Given the description of an element on the screen output the (x, y) to click on. 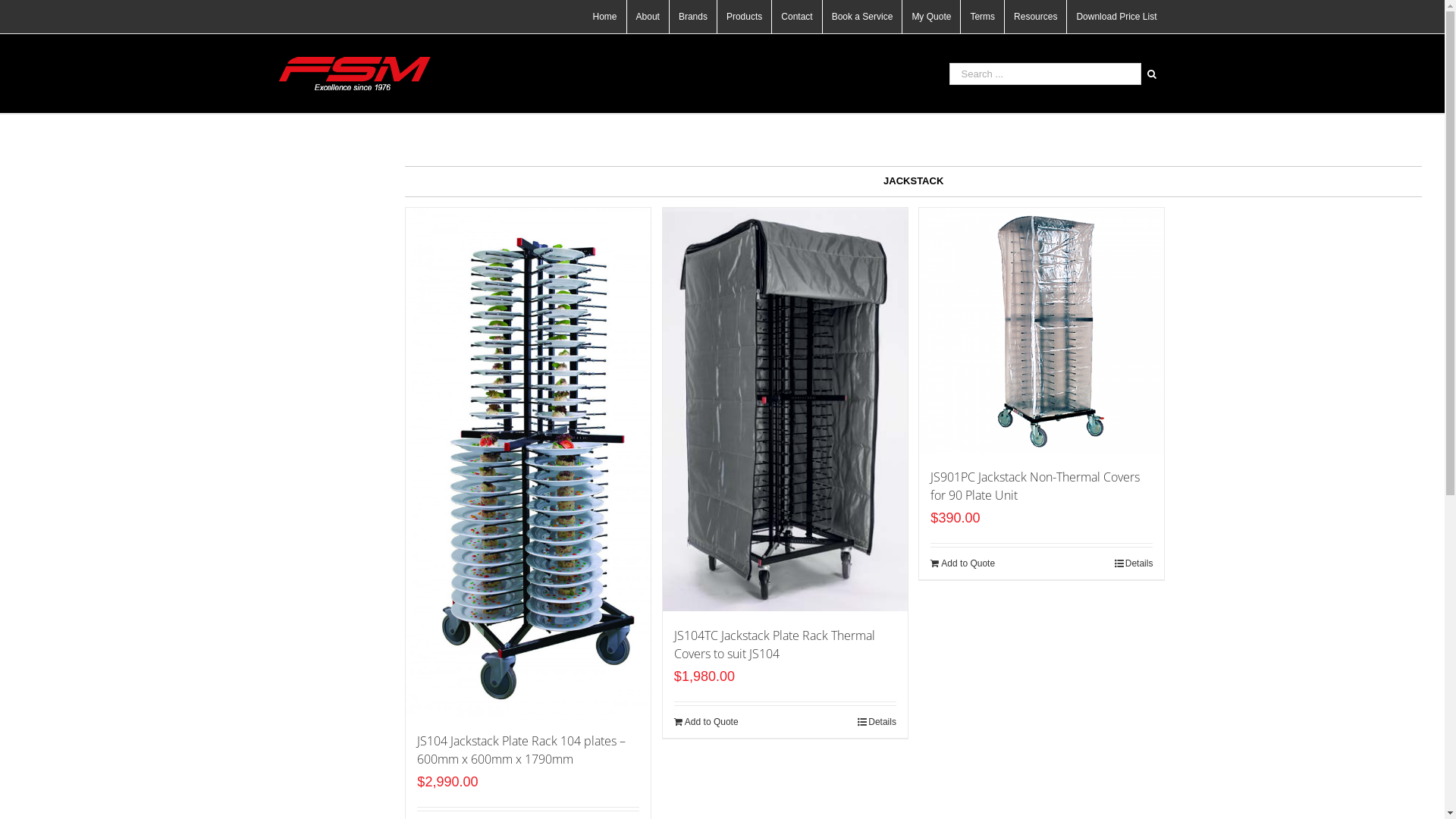
Products Element type: text (744, 16)
Details Element type: text (1133, 563)
About Element type: text (647, 16)
Home Element type: text (604, 16)
JS901PC Jackstack Non-Thermal Covers for 90 Plate Unit Element type: text (1034, 485)
JS104TC Jackstack Plate Rack Thermal Covers to suit JS104 Element type: text (774, 644)
Brands Element type: text (692, 16)
Contact Element type: text (796, 16)
Terms Element type: text (982, 16)
My Quote Element type: text (931, 16)
Details Element type: text (876, 721)
Resources Element type: text (1035, 16)
Add to Quote Element type: text (706, 721)
Download Price List Element type: text (1115, 16)
Book a Service Element type: text (862, 16)
Add to Quote Element type: text (962, 563)
